Given the description of an element on the screen output the (x, y) to click on. 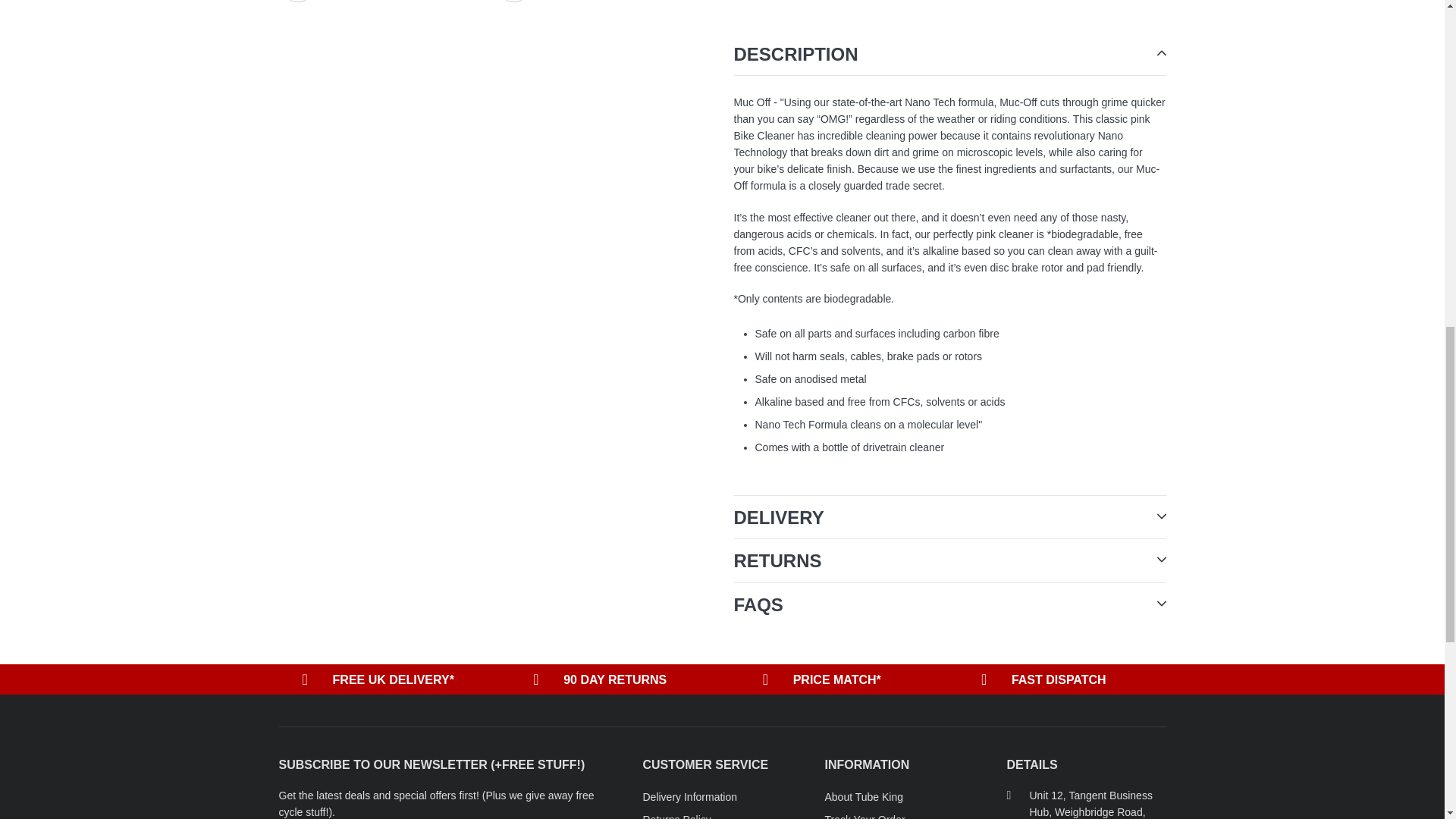
1 (767, 37)
Sold out (1090, 37)
